Given the description of an element on the screen output the (x, y) to click on. 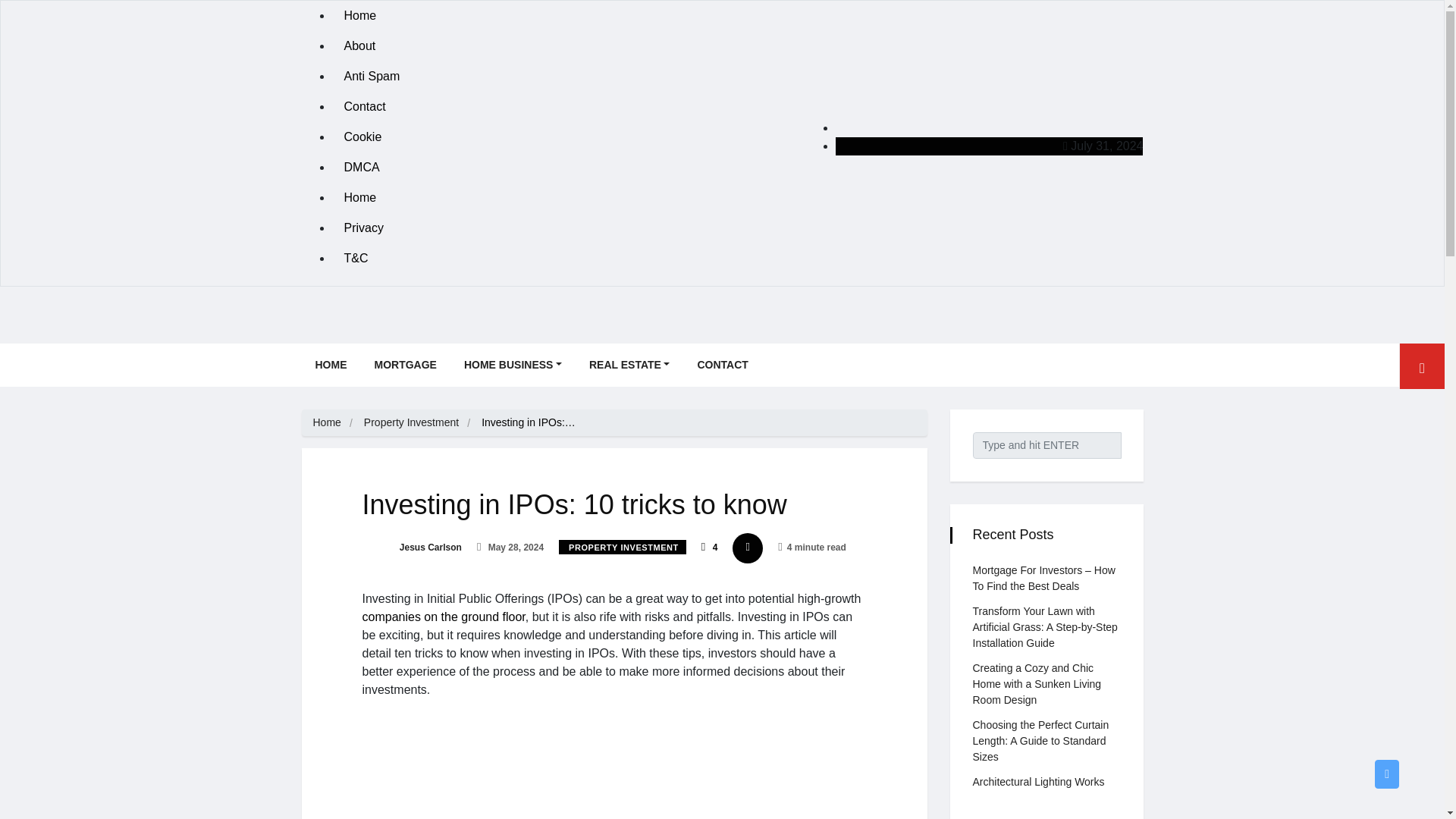
Home (557, 15)
Privacy (557, 227)
HOME (331, 364)
CONTACT (721, 364)
Cookie (557, 137)
Investing in IPOs: 10 tricks to know 1 (614, 765)
Contact (557, 106)
MORTGAGE (405, 364)
Home (557, 197)
Anti Spam (557, 76)
DMCA (557, 167)
HOME BUSINESS (512, 364)
About (557, 46)
REAL ESTATE (628, 364)
